Given the description of an element on the screen output the (x, y) to click on. 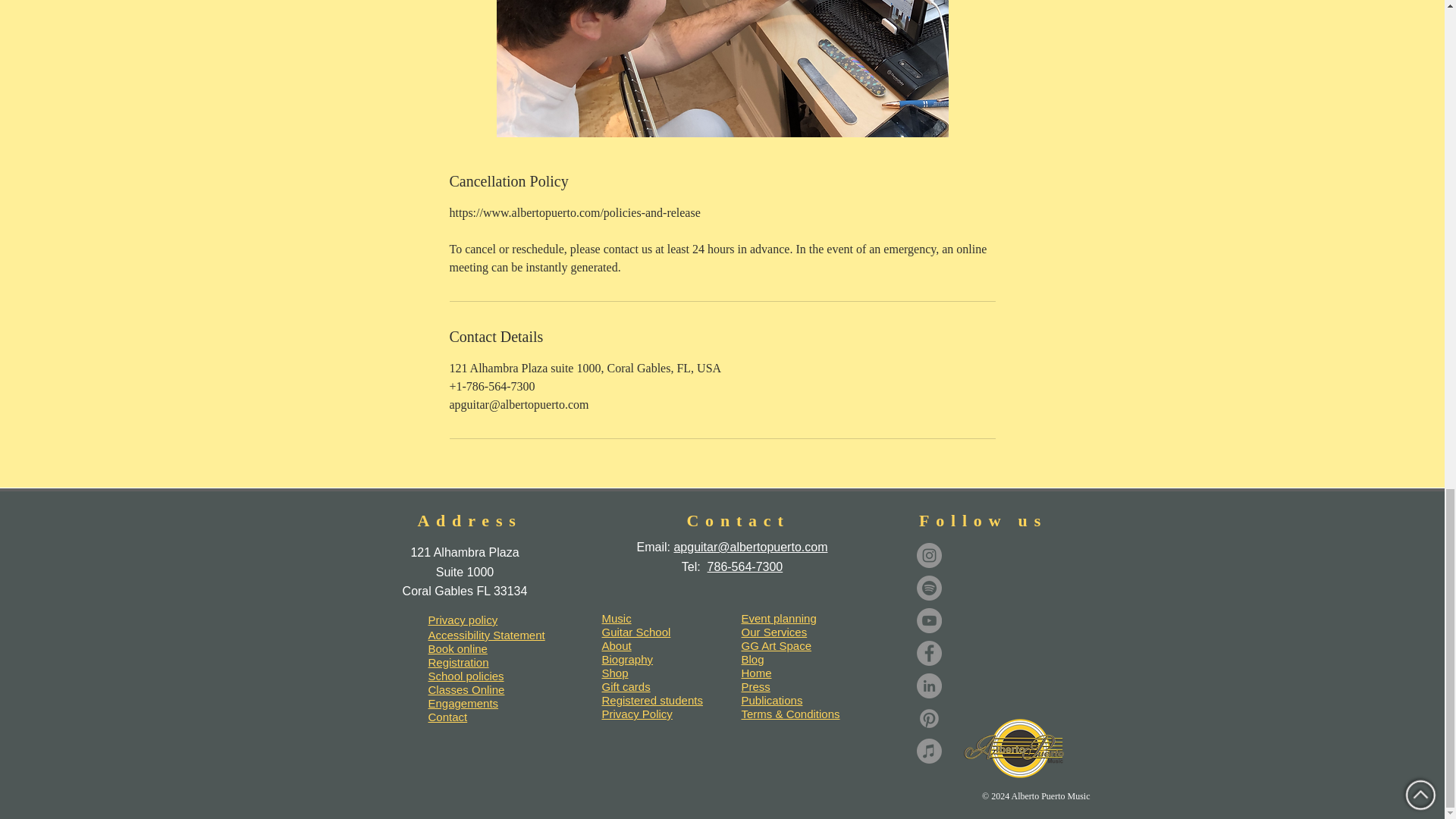
Privacy Policy (637, 713)
Guitar School (636, 631)
Biography (627, 658)
School policies (465, 675)
Gift cards (626, 686)
Our Services (774, 631)
Privacy policy (462, 619)
Registered students (652, 699)
Classes Online (465, 689)
Book online (457, 648)
